Given the description of an element on the screen output the (x, y) to click on. 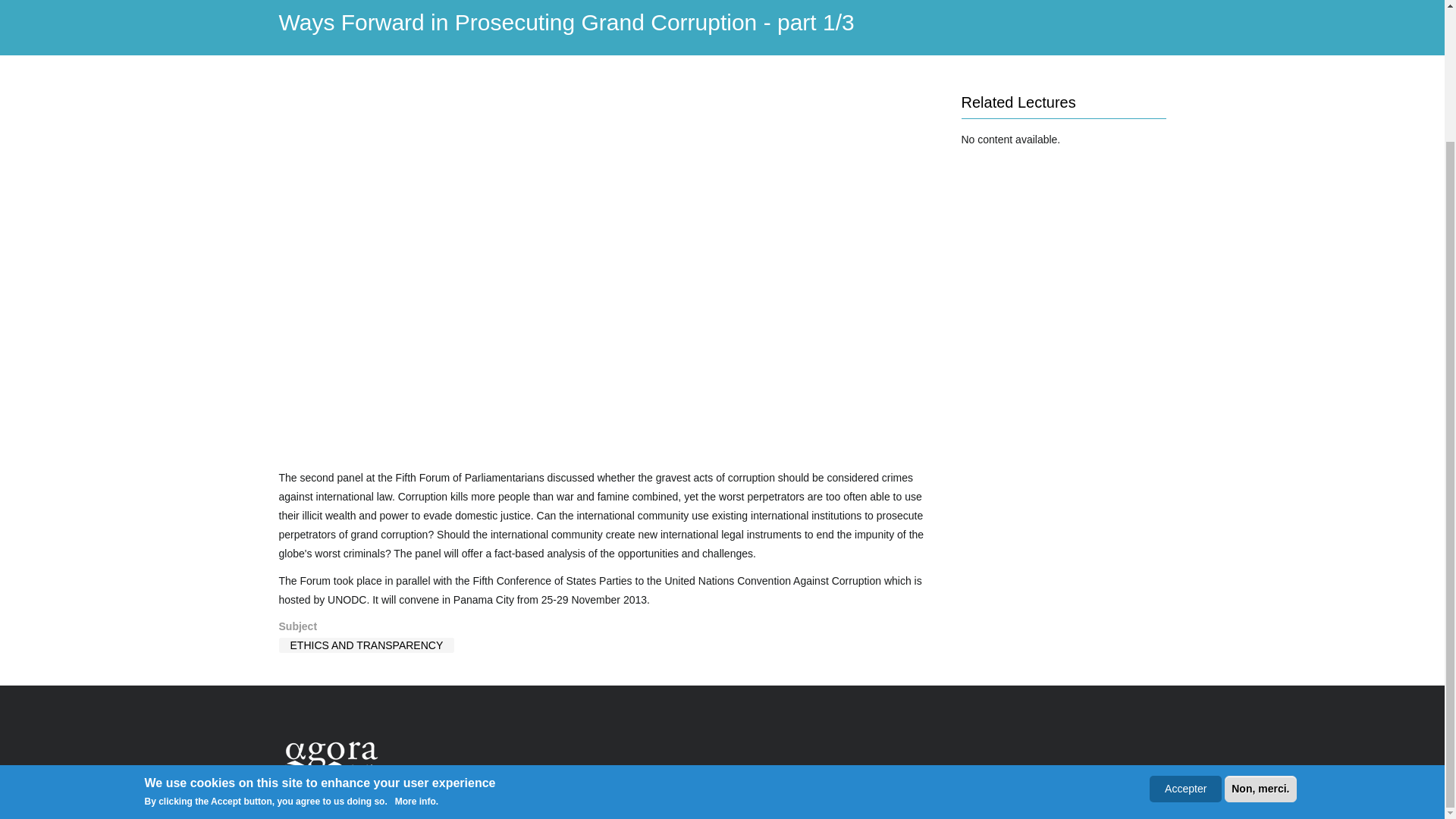
Accepter (1185, 628)
Non, merci. (1259, 628)
ETHICS AND TRANSPARENCY (366, 645)
More info (411, 641)
